Given the description of an element on the screen output the (x, y) to click on. 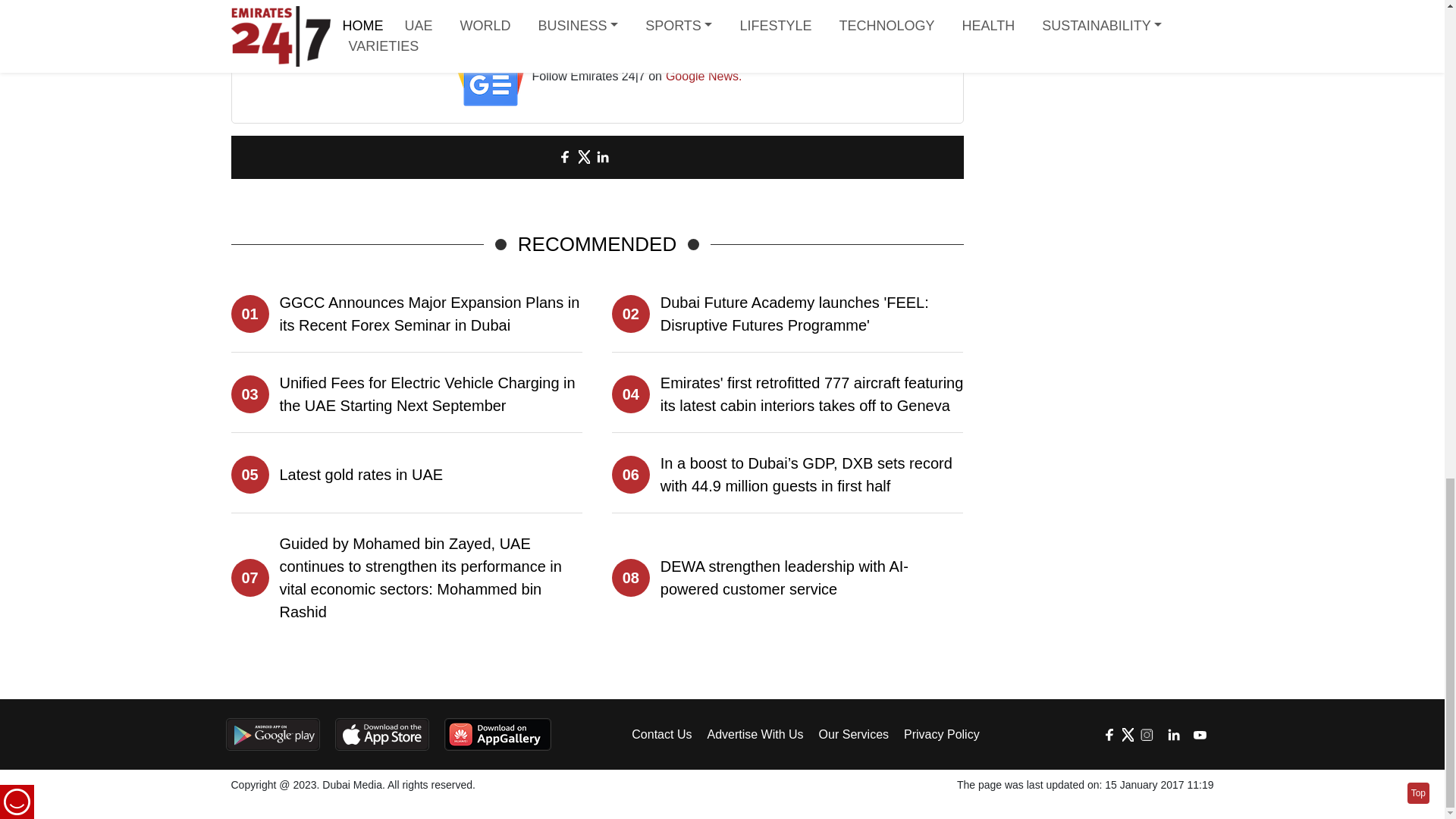
Google News. (703, 76)
